Given the description of an element on the screen output the (x, y) to click on. 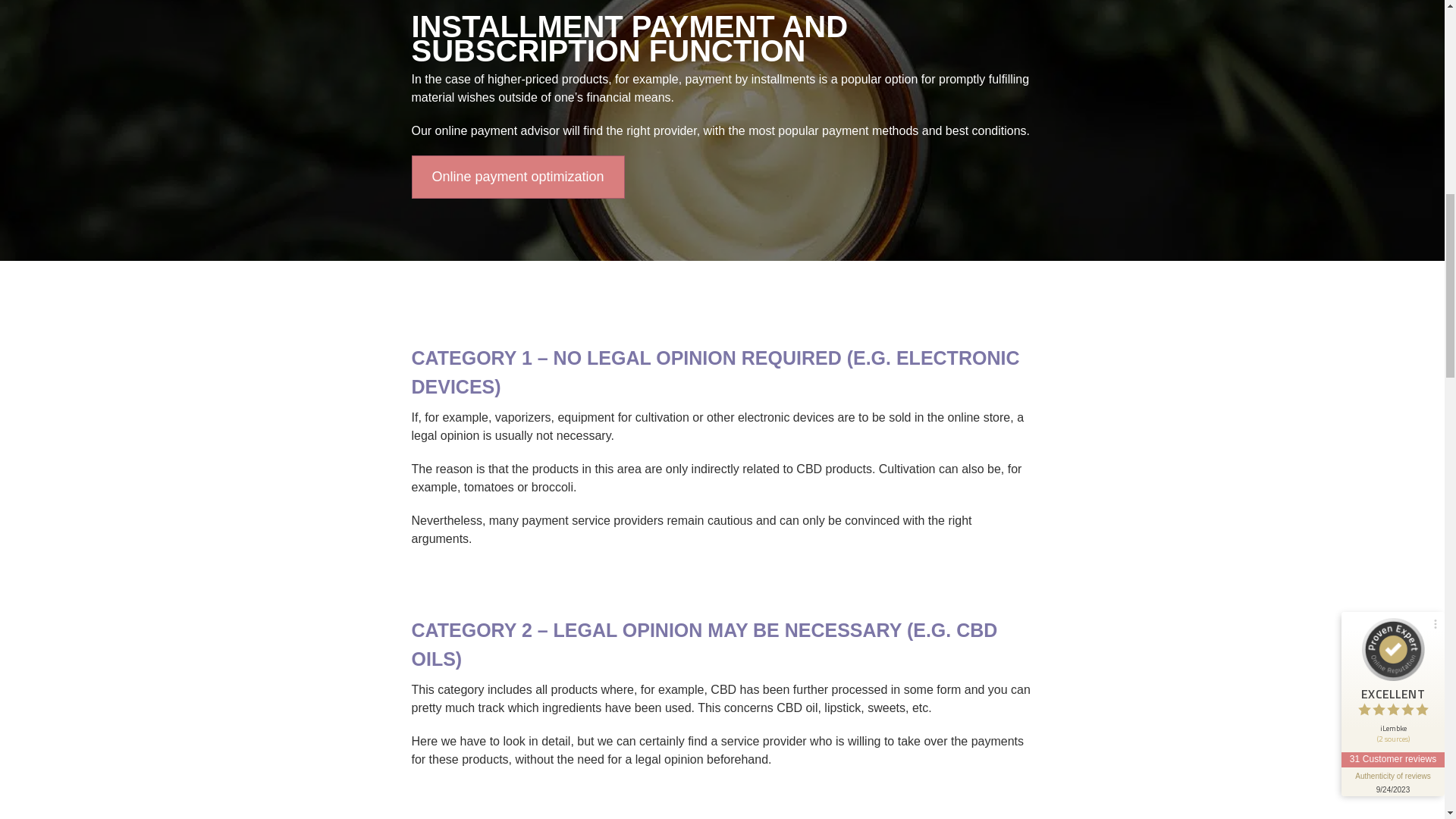
Online payment optimization (517, 176)
